Given the description of an element on the screen output the (x, y) to click on. 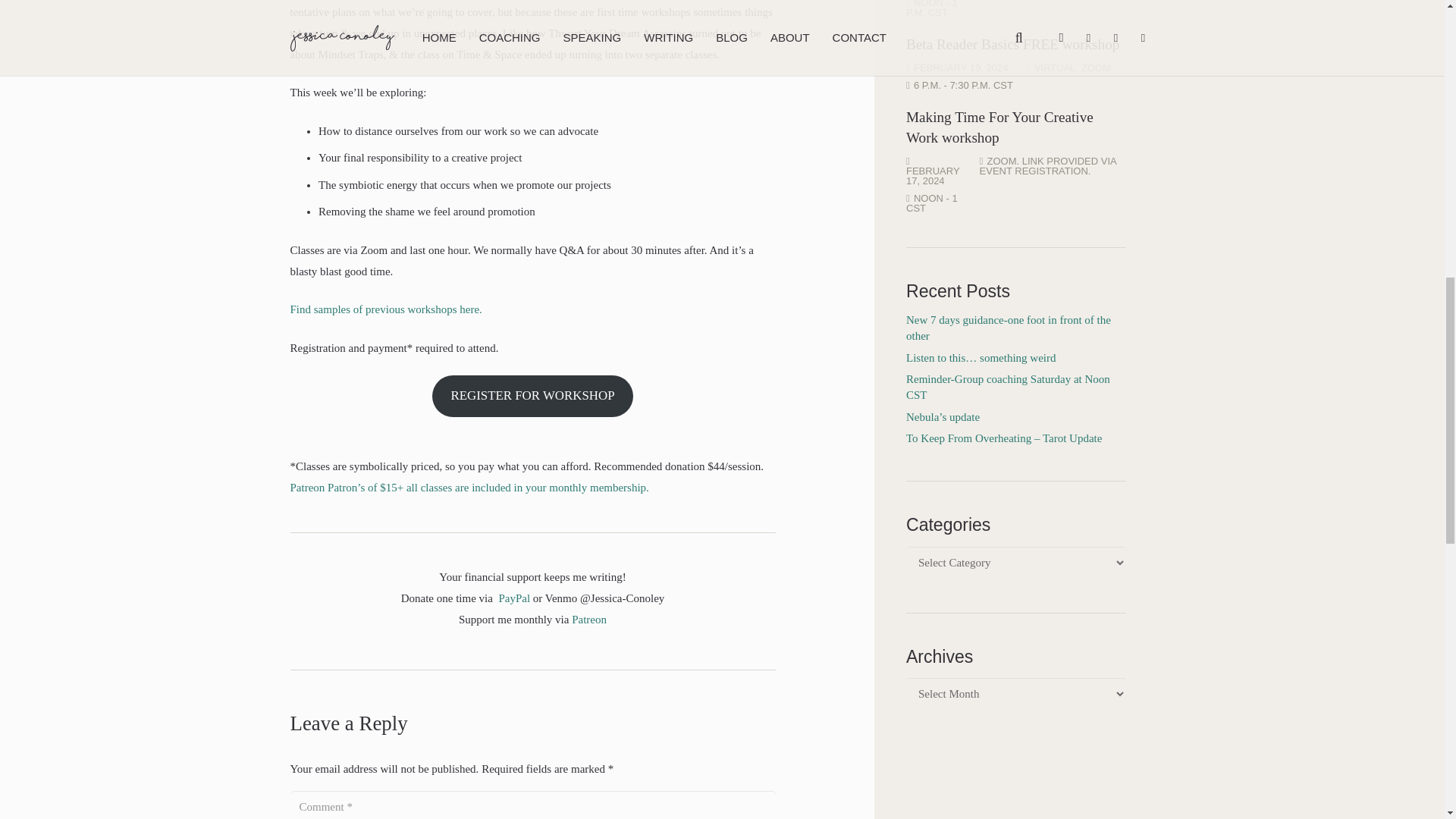
PayPal (513, 597)
Find samples of previous workshops here. (385, 309)
Beta Reader Basics FREE workshop (1012, 44)
REGISTER FOR WORKSHOP (532, 395)
Patreon (589, 618)
Back to top (1413, 26)
Making Time For Your Creative Work workshop (999, 126)
New 7 days guidance-one foot in front of the other (1007, 327)
Reminder-Group coaching Saturday at Noon CST (1007, 387)
